Given the description of an element on the screen output the (x, y) to click on. 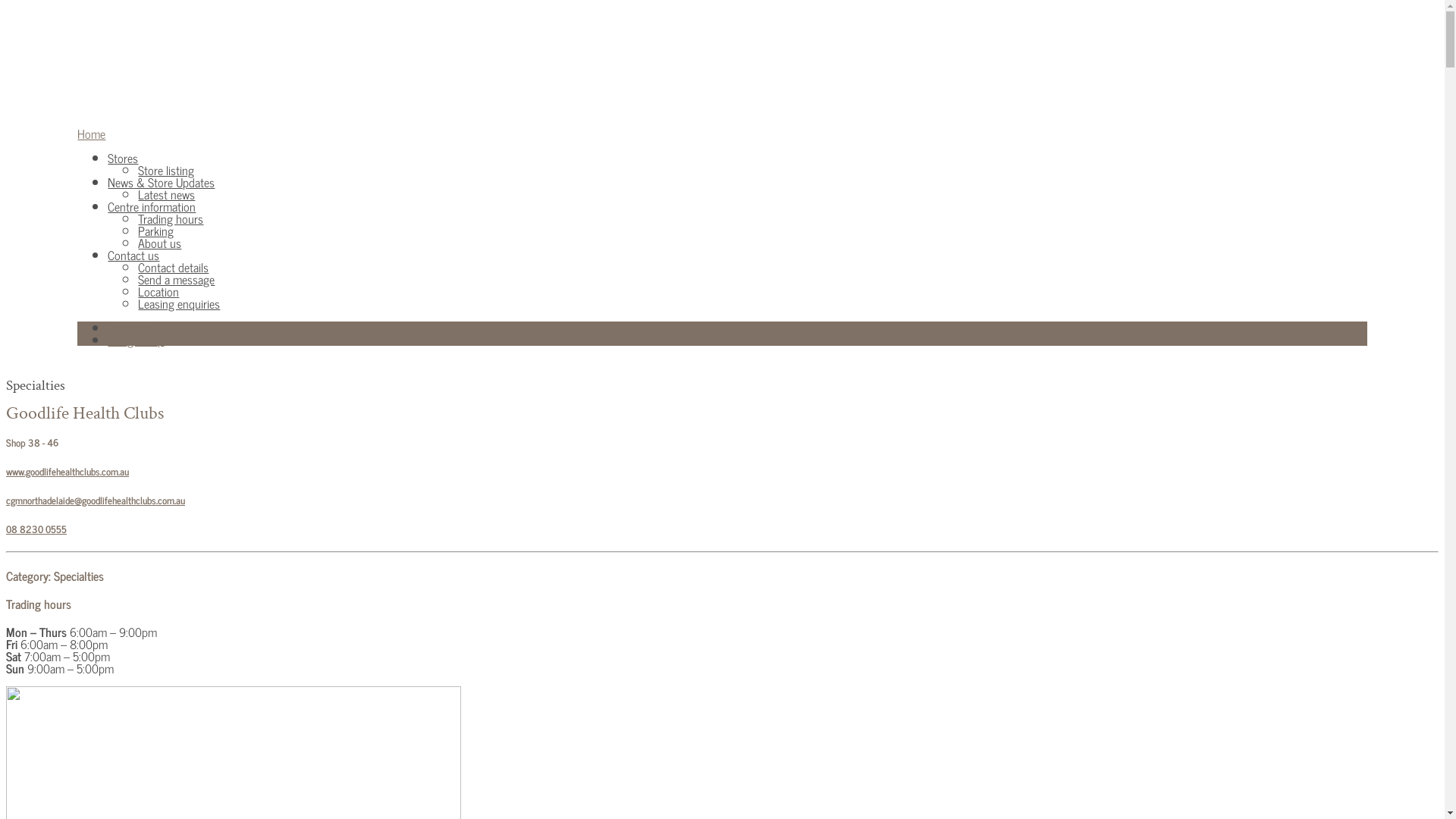
Facebook Element type: text (129, 327)
Contact details Element type: text (173, 266)
cgmnorthadelaide@goodlifehealthclubs.com.au Element type: text (95, 499)
Centre information Element type: text (151, 206)
Trading hours Element type: text (170, 218)
Latest news Element type: text (166, 193)
Store listing Element type: text (166, 169)
Location Element type: text (158, 291)
08 8230 0555 Element type: text (36, 528)
Parking Element type: text (155, 230)
About us Element type: text (159, 242)
Leasing enquiries Element type: text (178, 303)
www.goodlifehealthclubs.com.au Element type: text (67, 470)
Send a message Element type: text (176, 278)
Google Map Element type: text (135, 339)
Stores Element type: text (122, 157)
Home Element type: text (91, 133)
News & Store Updates Element type: text (160, 181)
Contact us Element type: text (133, 254)
